Given the description of an element on the screen output the (x, y) to click on. 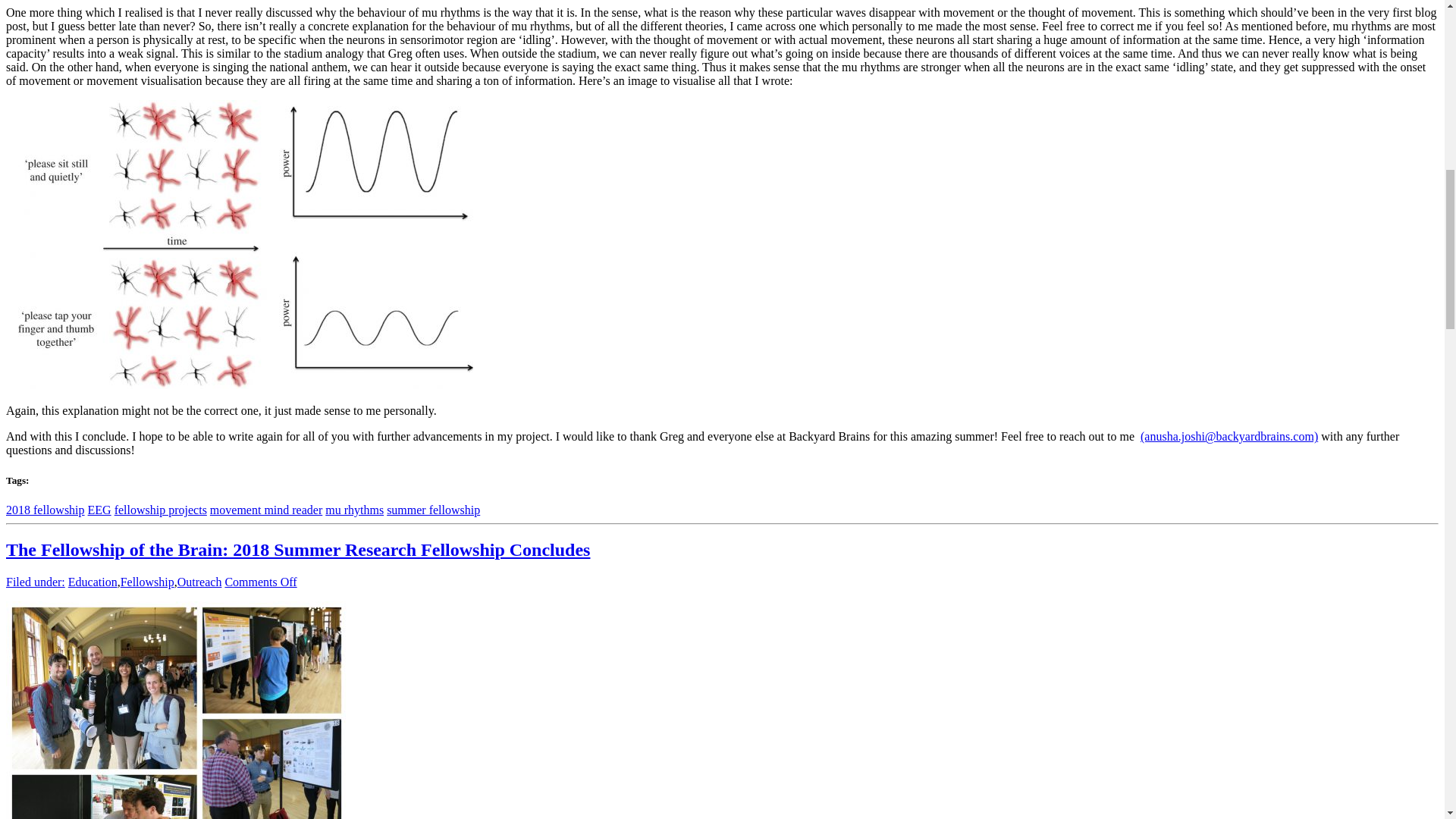
summer fellowship (433, 509)
EEG (99, 509)
mu rhythms (354, 509)
Education (92, 581)
Filed under: (35, 581)
Fellowship (147, 581)
Comments Off (260, 581)
fellowship projects (160, 509)
movement mind reader (265, 509)
2018 fellowship (44, 509)
Outreach (199, 581)
